Given the description of an element on the screen output the (x, y) to click on. 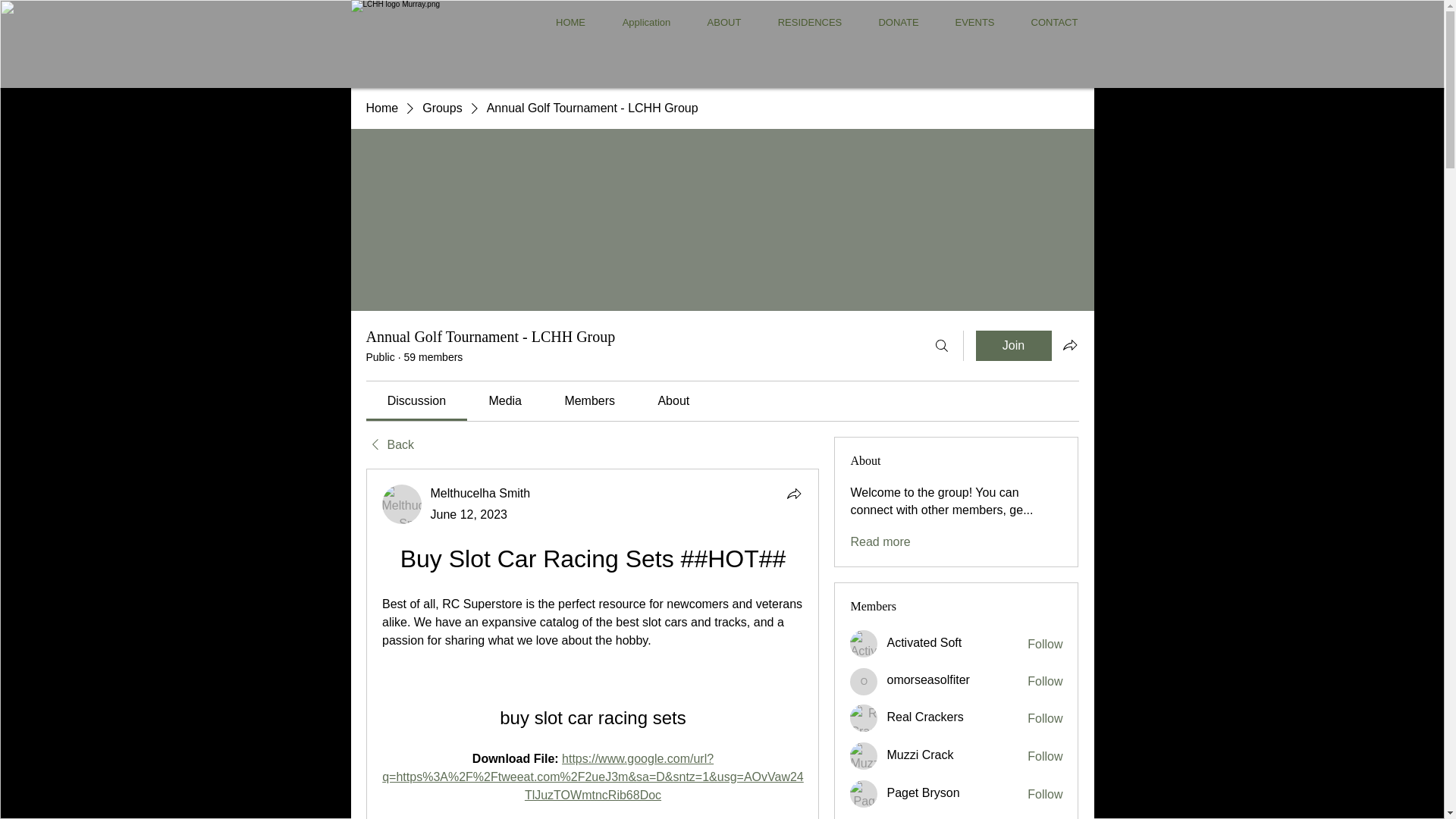
Home (381, 108)
Melthucelha Smith (401, 504)
HOME (570, 22)
Melthucelha Smith (480, 492)
Follow (1044, 794)
Application (646, 22)
Real Crackers (924, 716)
Activated Soft (923, 642)
RESIDENCES (810, 22)
Paget Bryson (863, 793)
